Given the description of an element on the screen output the (x, y) to click on. 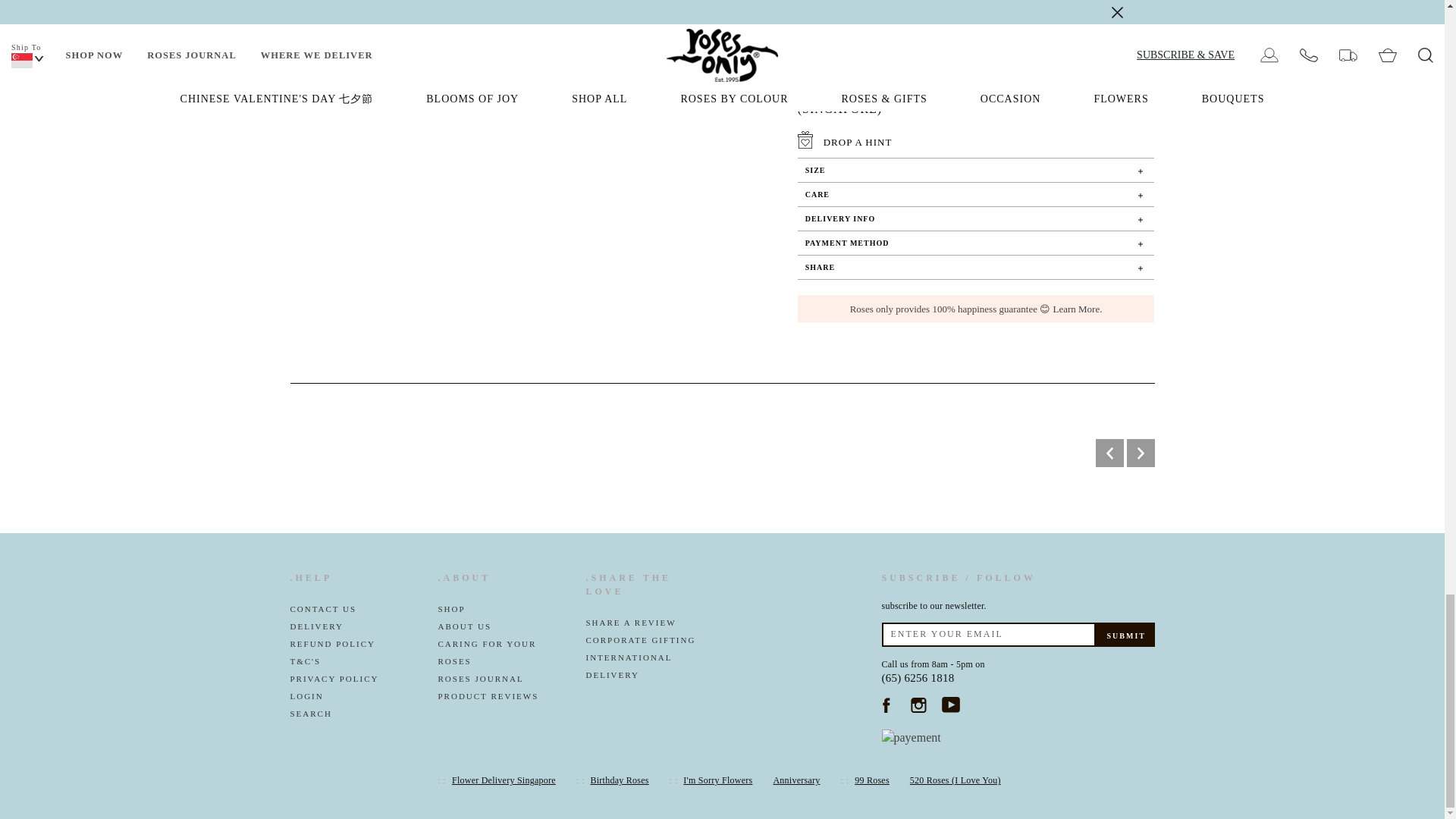
Roses Only Singapore on Instagram (918, 704)
Roses Only Singapore on YouTube (951, 704)
Roses Only Singapore on Facebook (885, 704)
